Given the description of an element on the screen output the (x, y) to click on. 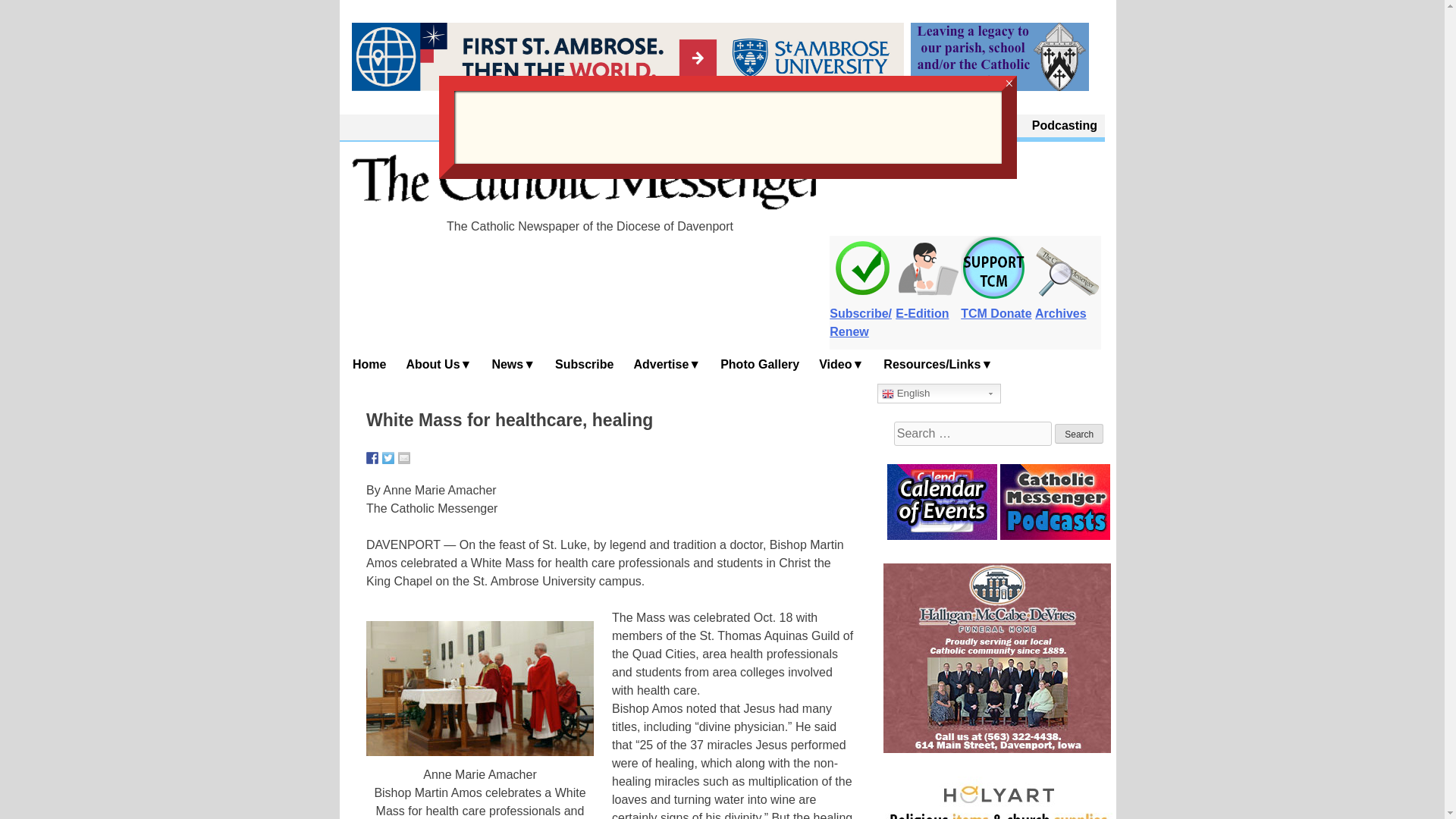
Share by email (403, 458)
Advertise (668, 363)
Contact Us (983, 125)
Subscribe (585, 363)
Archives (1067, 304)
Podcasting (1065, 125)
TCM Donate (995, 304)
About Us (910, 125)
Share on Twitter (387, 458)
News (513, 363)
E-Edition (927, 304)
Home (369, 363)
Search (1078, 433)
Search (1078, 433)
About Us (438, 363)
